Given the description of an element on the screen output the (x, y) to click on. 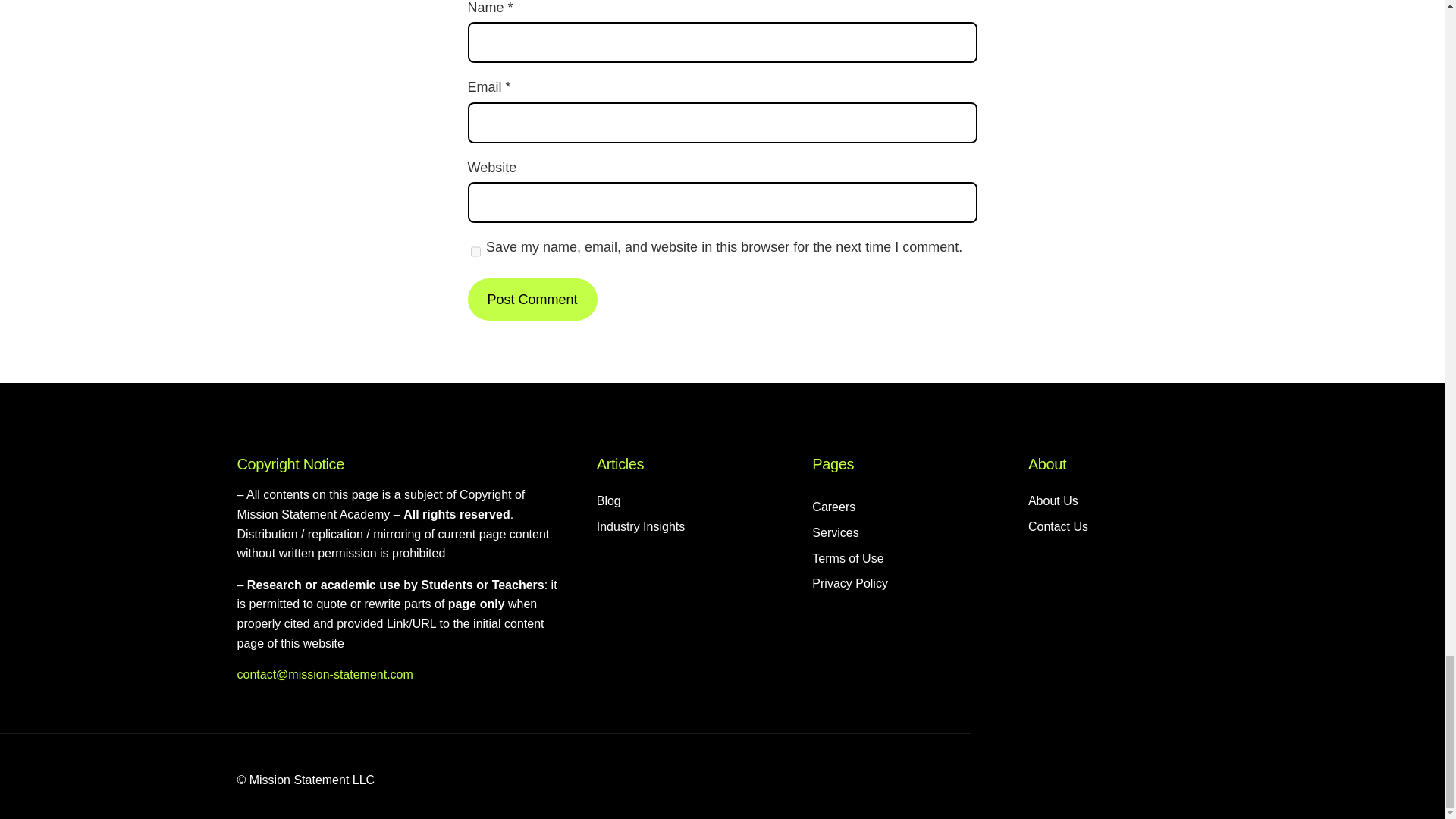
Industry Insights (640, 526)
Post Comment (531, 299)
Post Comment (531, 299)
Careers (834, 506)
Privacy Policy (850, 583)
Terms of Use (847, 558)
Services (835, 532)
About Us (1052, 501)
Blog (608, 501)
Contact Us (1057, 526)
